Given the description of an element on the screen output the (x, y) to click on. 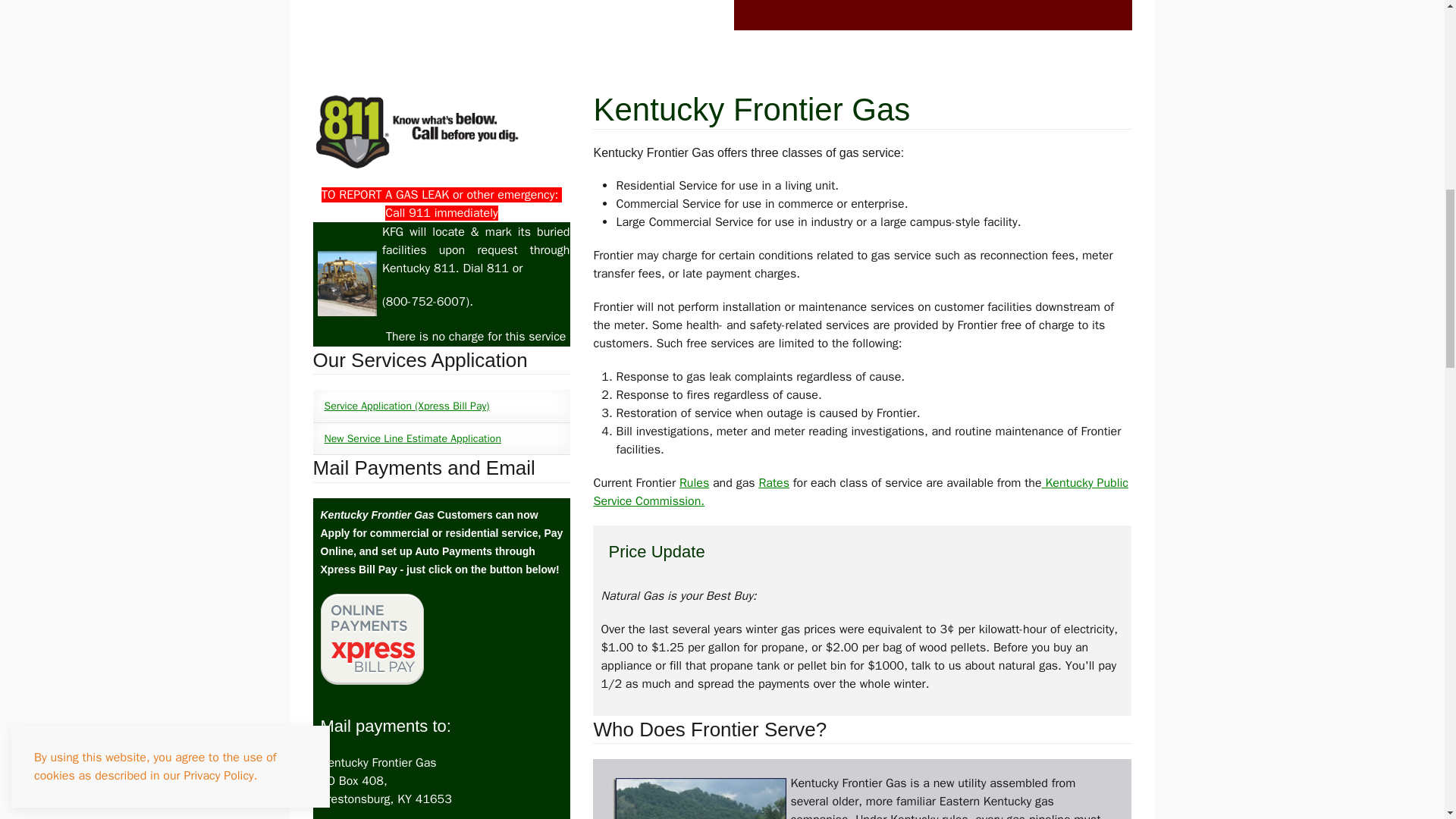
PSC-Tariffs-Oct16 (694, 482)
Feb-Apr 2019 Rates (773, 482)
